Given the description of an element on the screen output the (x, y) to click on. 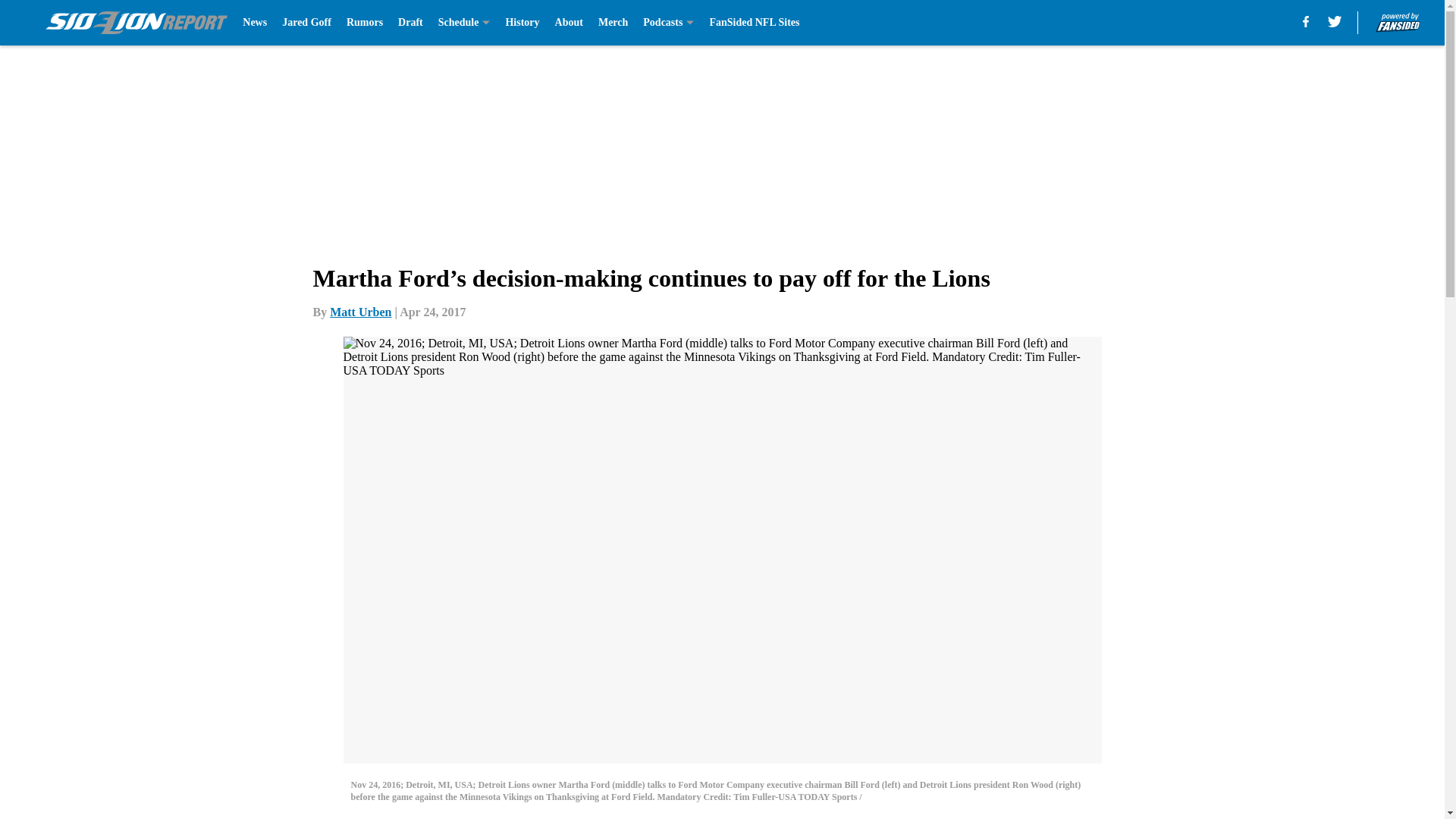
About (568, 22)
Merch (612, 22)
Matt Urben (360, 311)
Rumors (364, 22)
Draft (410, 22)
News (254, 22)
Jared Goff (306, 22)
FanSided NFL Sites (754, 22)
History (521, 22)
